Given the description of an element on the screen output the (x, y) to click on. 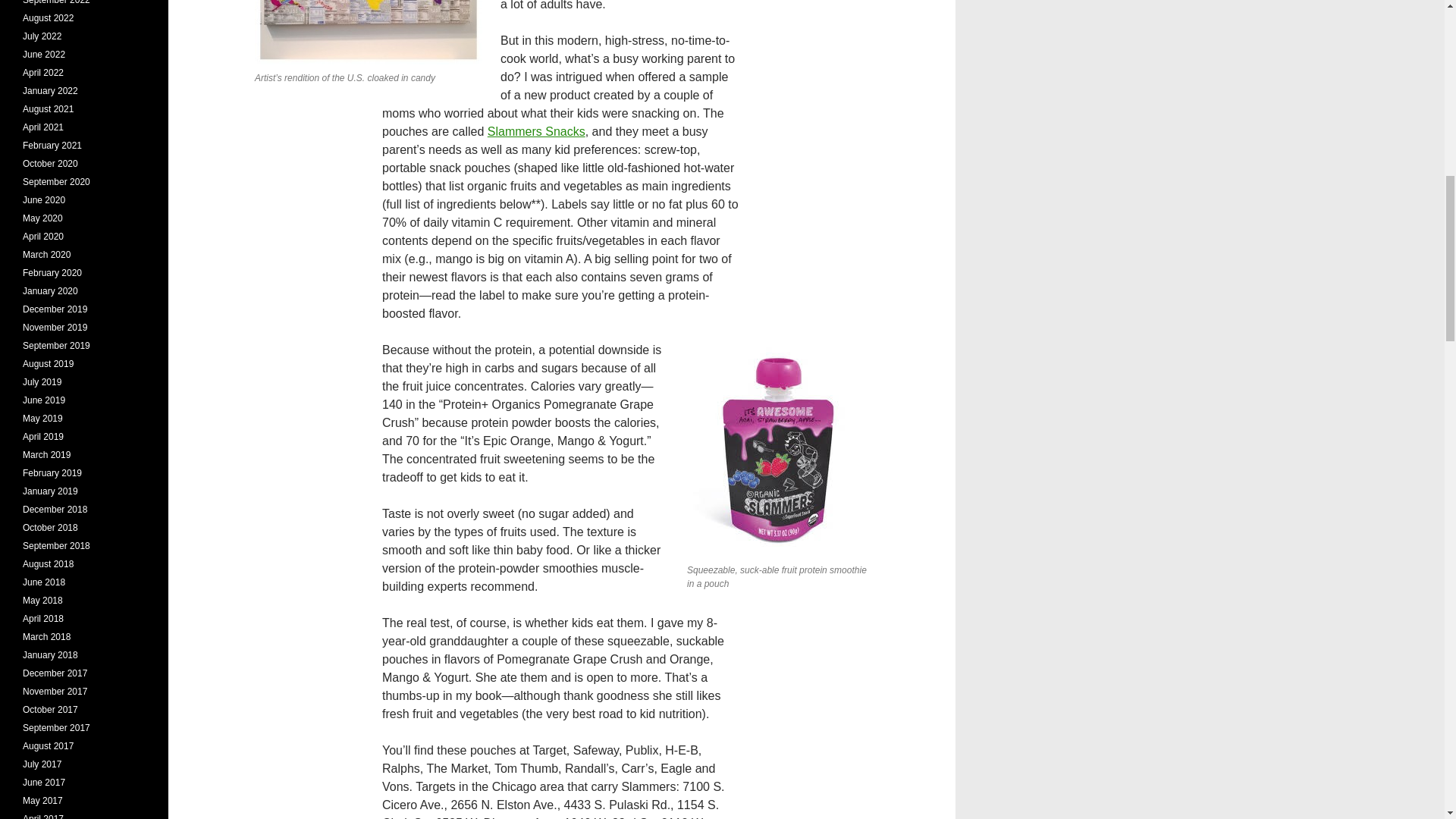
Photo courtesy of Angela Hathaway (367, 32)
September 2022 (56, 2)
August 2022 (48, 18)
Slammers Snacks (536, 131)
July 2022 (42, 36)
